Given the description of an element on the screen output the (x, y) to click on. 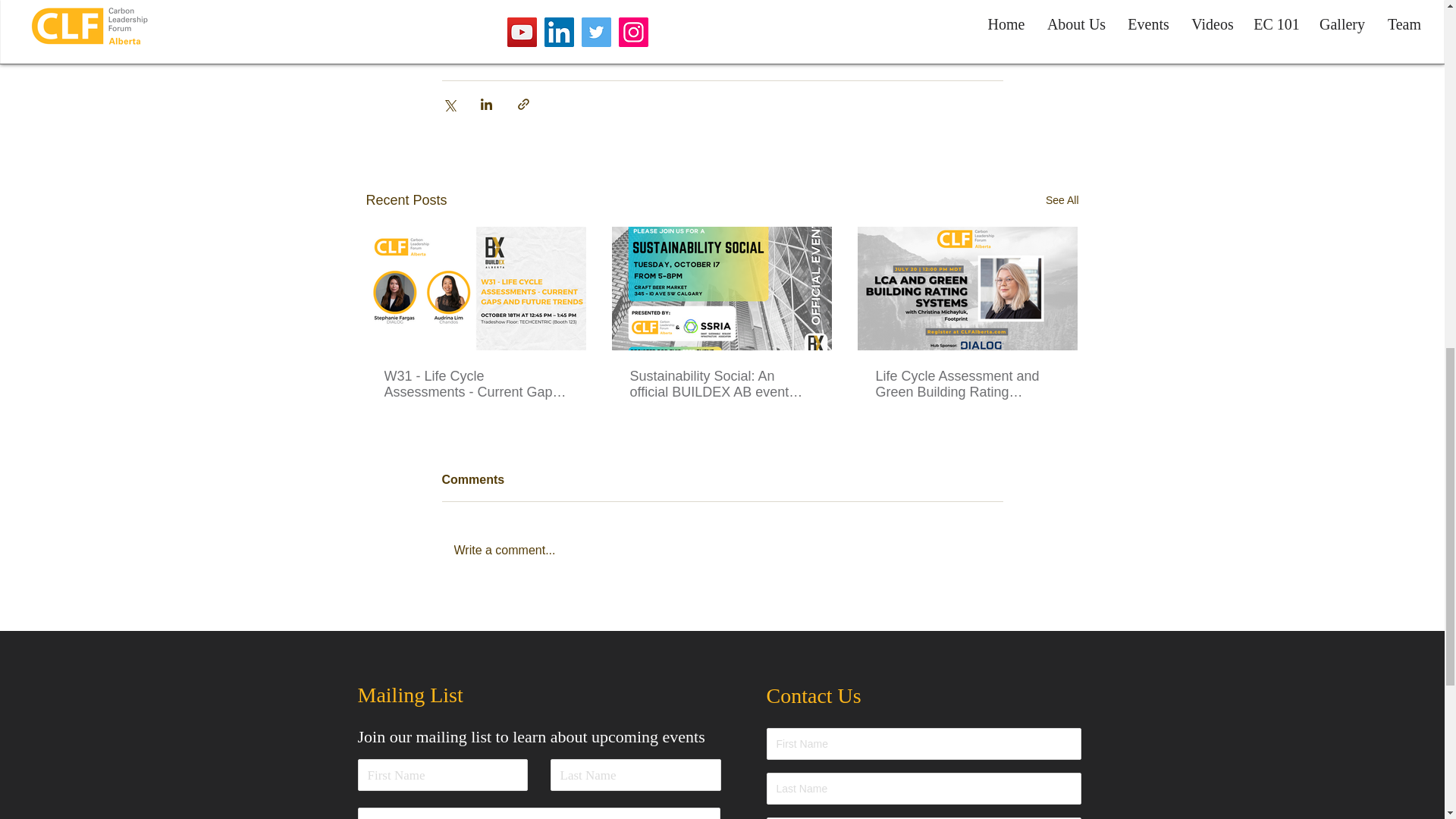
Write a comment... (722, 550)
See All (1061, 200)
